Given the description of an element on the screen output the (x, y) to click on. 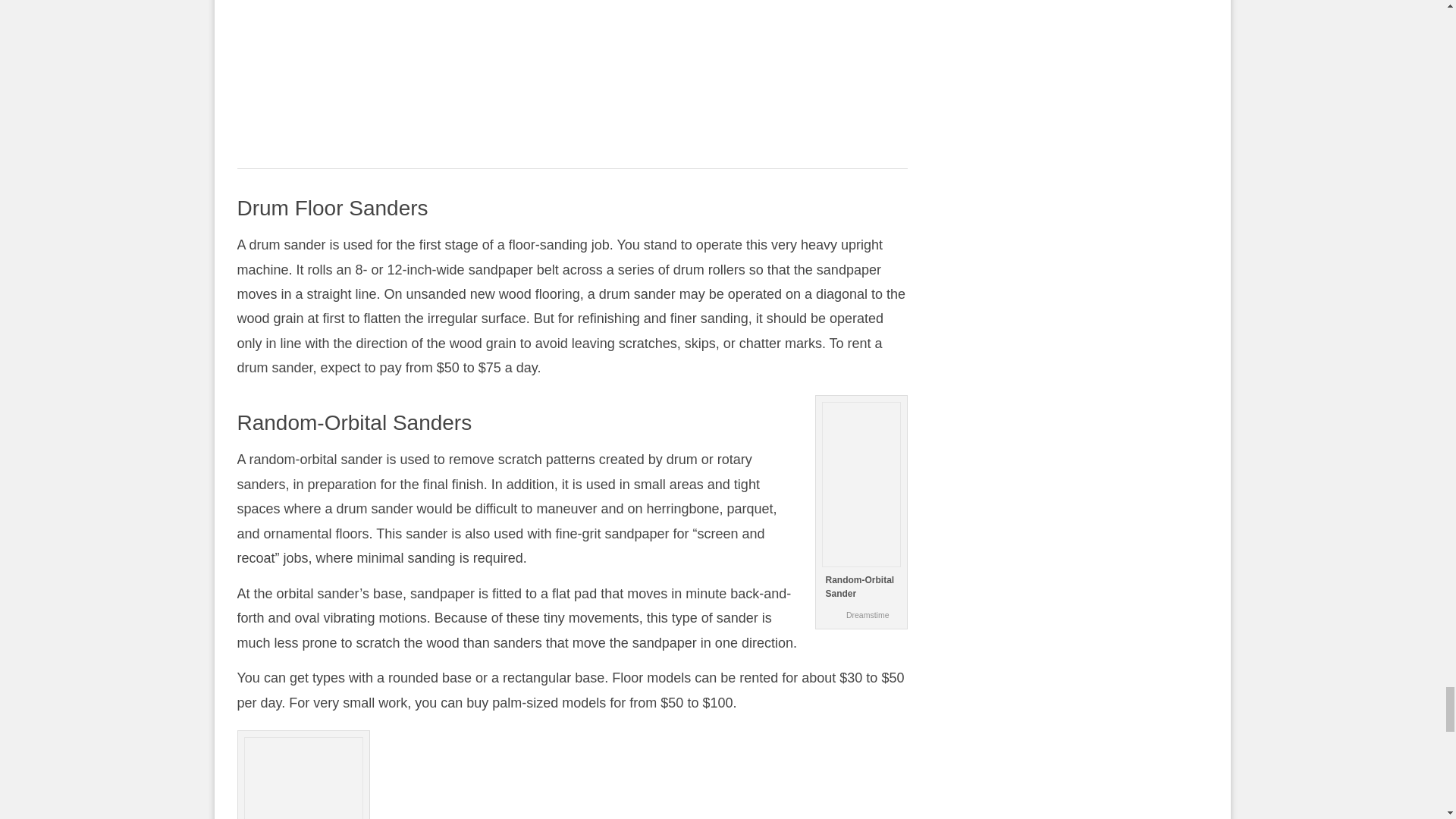
edge-floor-sander (303, 778)
